Given the description of an element on the screen output the (x, y) to click on. 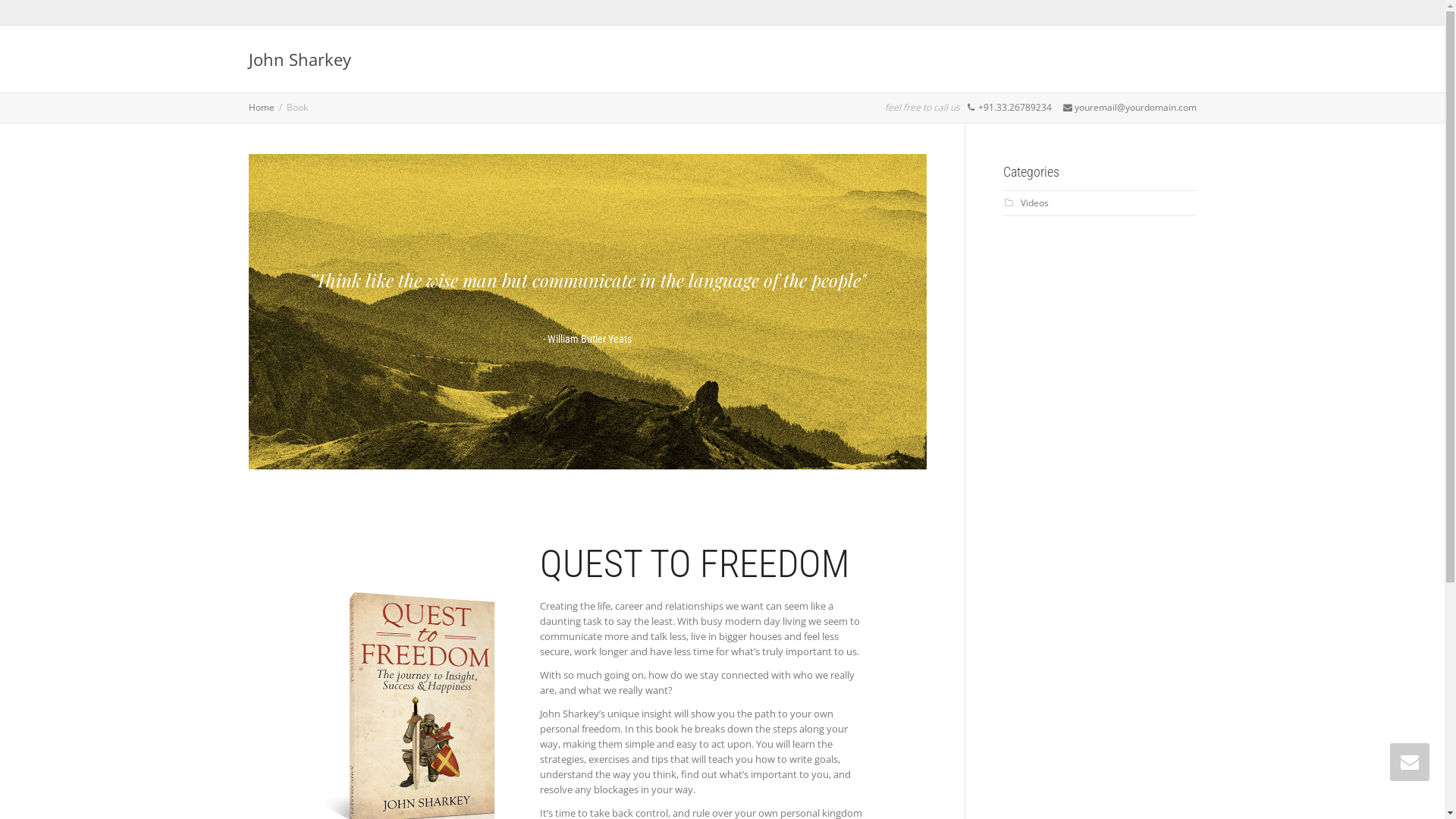
Videos Element type: text (1034, 202)
John Sharkey Element type: text (299, 58)
Home Element type: text (261, 106)
